Given the description of an element on the screen output the (x, y) to click on. 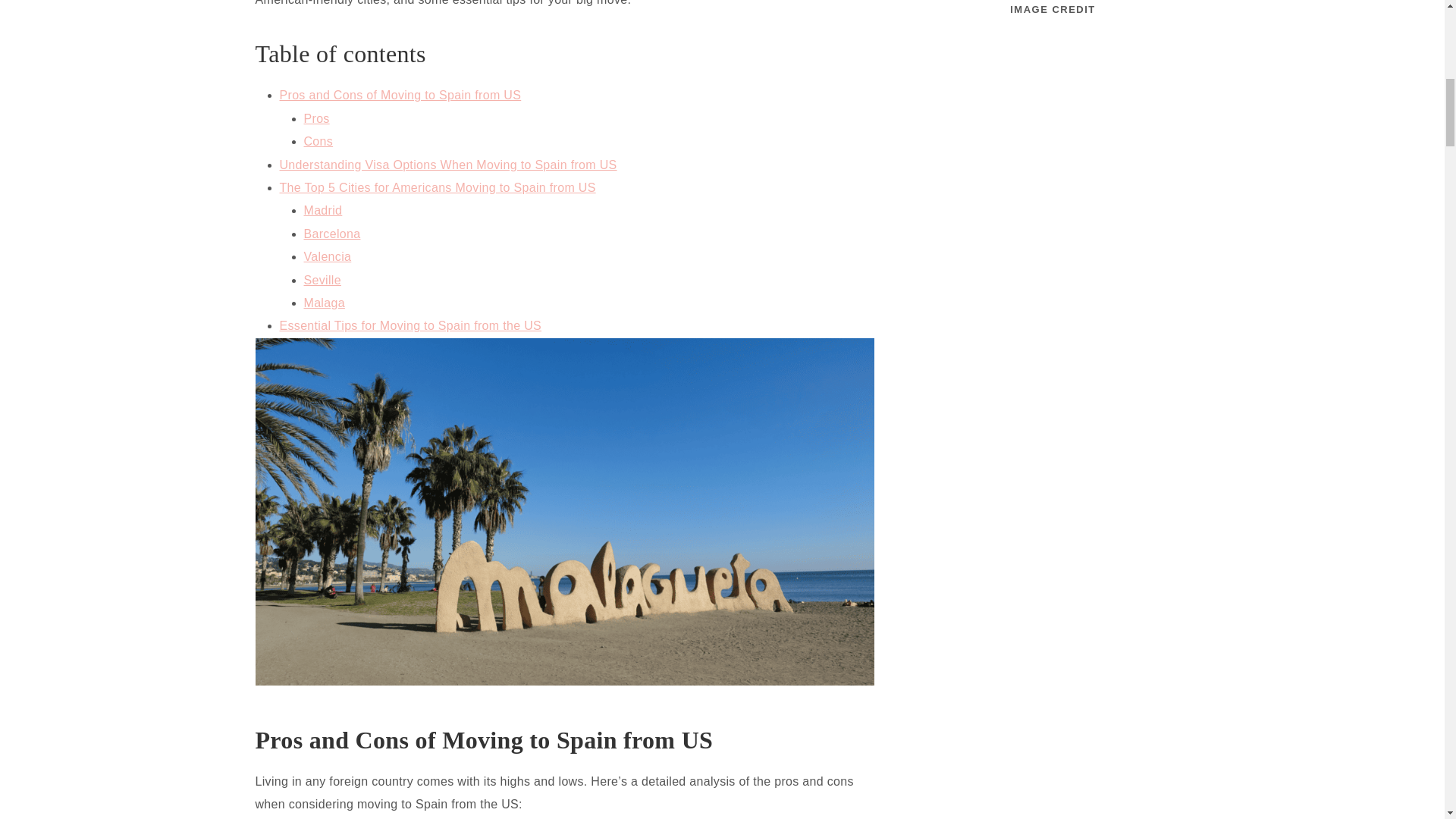
Pros and Cons of Moving to Spain from US (400, 94)
Essential Tips for Moving to Spain from the US (410, 325)
The Top 5 Cities for Americans Moving to Spain from US (437, 187)
Cons (317, 141)
Madrid (322, 210)
Pros (315, 118)
Barcelona (330, 233)
Malaga (322, 302)
Valencia (326, 256)
Understanding Visa Options When Moving to Spain from US (447, 164)
Seville (321, 279)
